Given the description of an element on the screen output the (x, y) to click on. 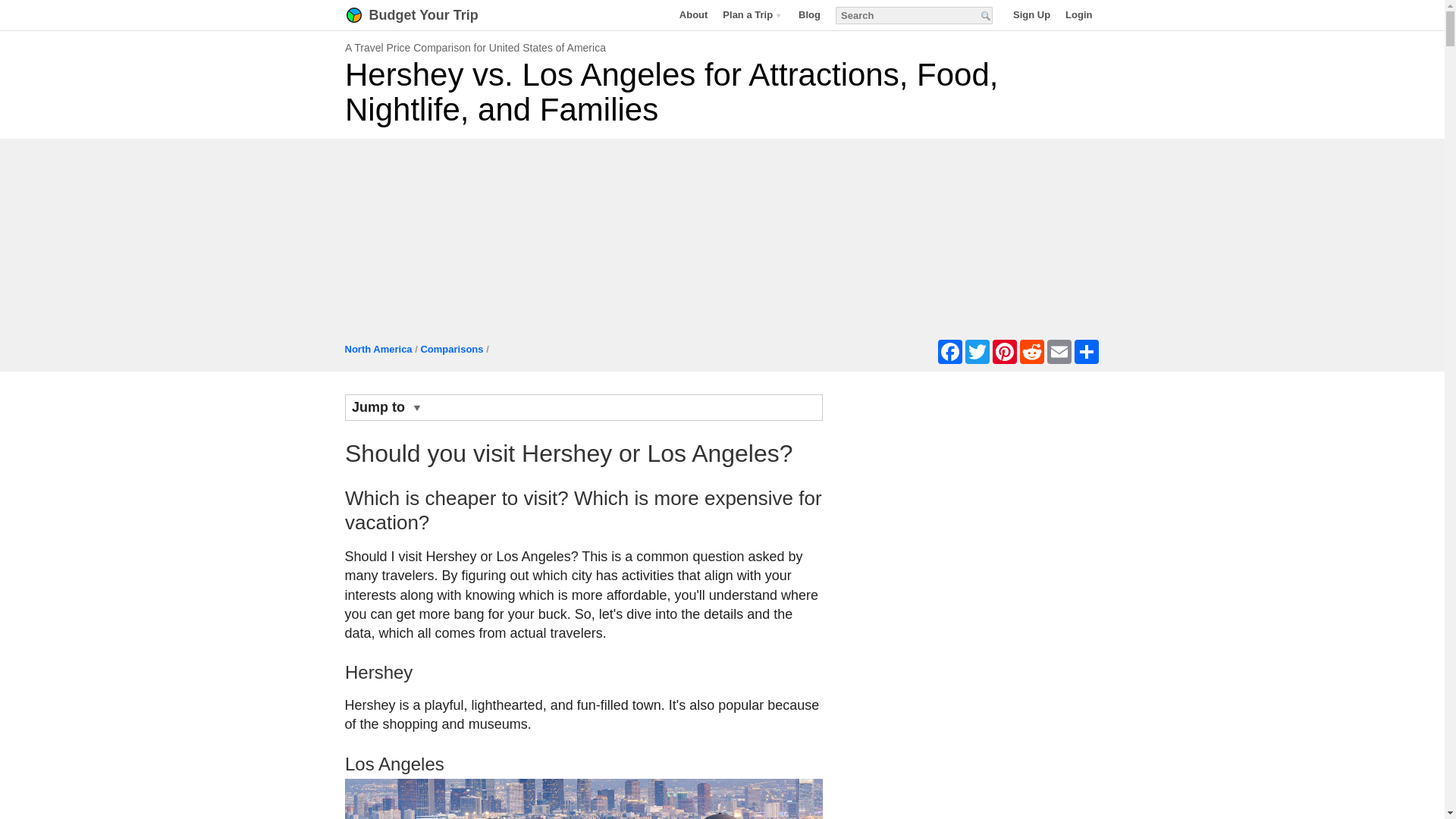
North America (377, 348)
Budget Your Trip (431, 14)
Sign Up (1031, 14)
About (693, 14)
Twitter (976, 351)
Login (1078, 14)
Plan a Trip (752, 14)
Reddit (1031, 351)
Pinterest (1003, 351)
Facebook (949, 351)
